Given the description of an element on the screen output the (x, y) to click on. 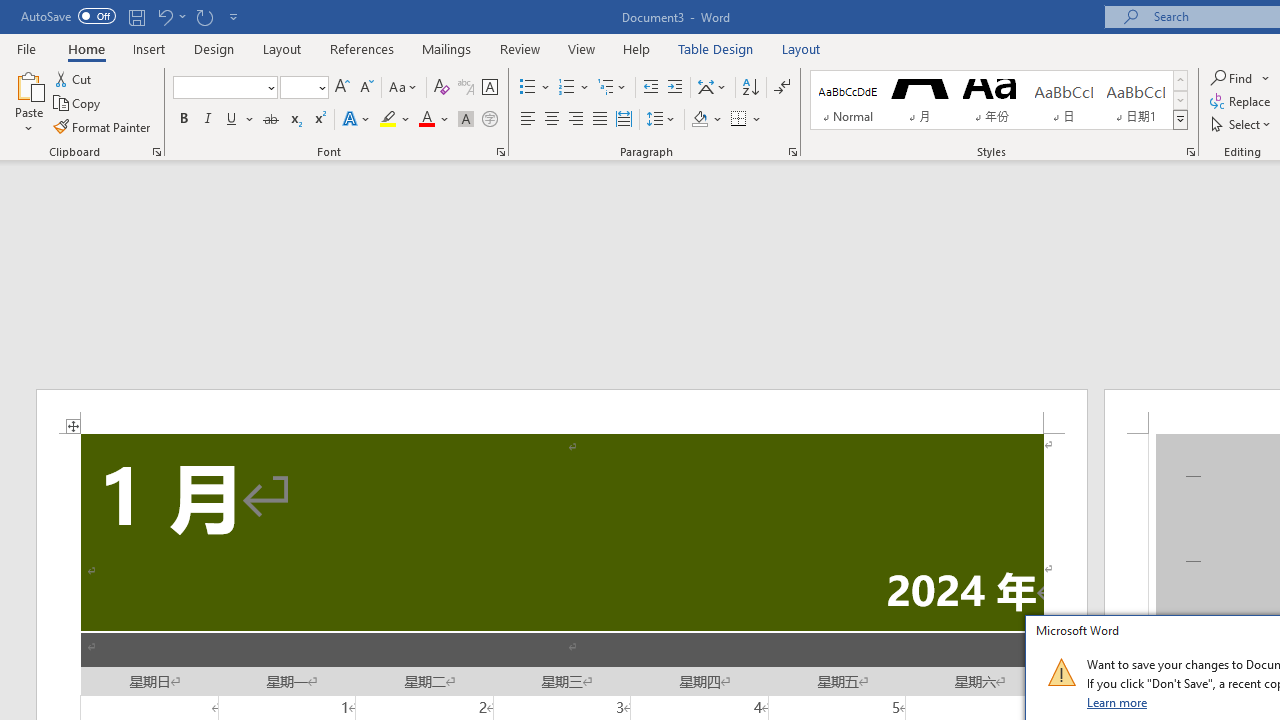
Font Size (304, 87)
File Tab (26, 48)
Borders (739, 119)
